Given the description of an element on the screen output the (x, y) to click on. 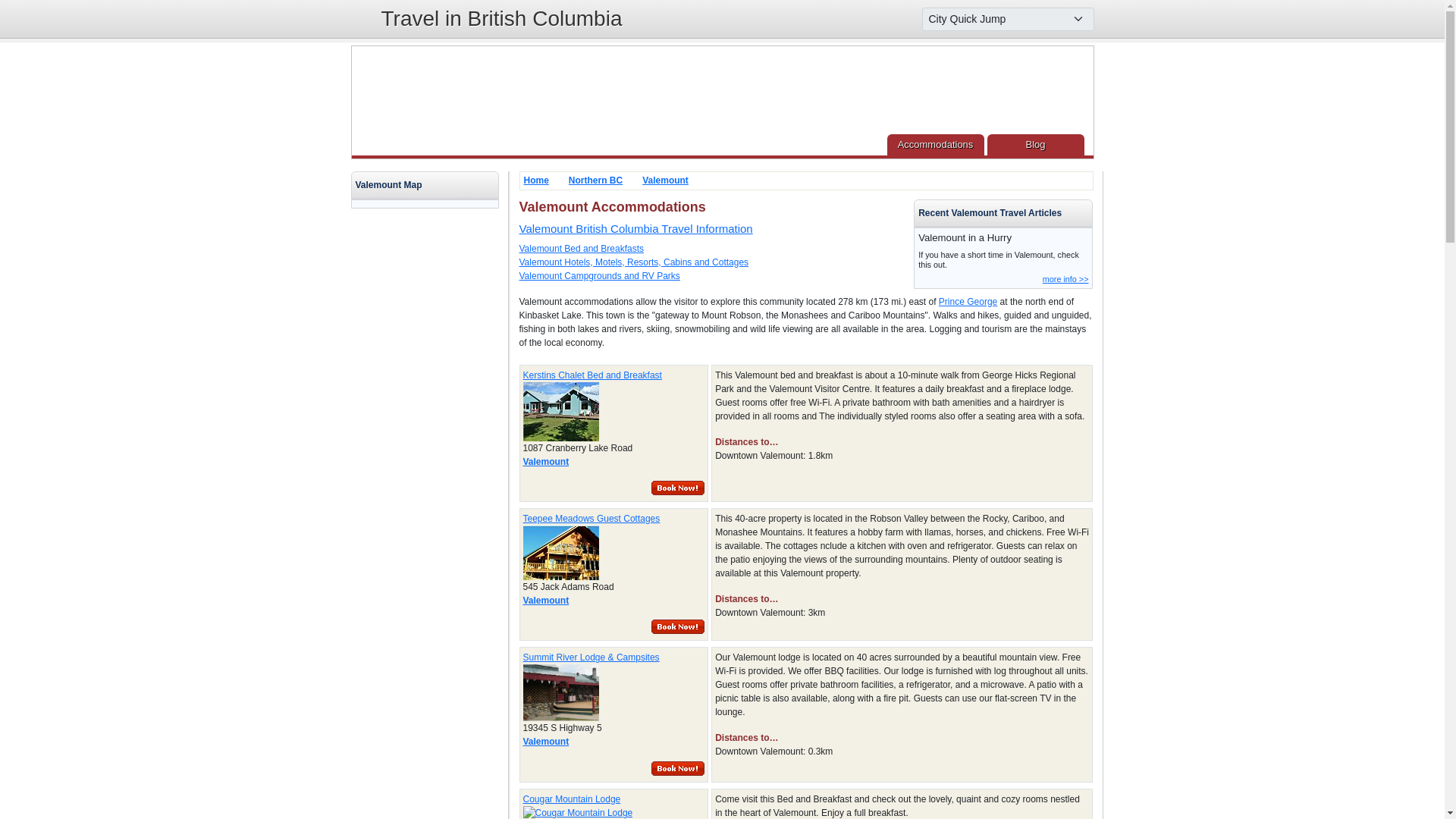
Northern BC (596, 180)
Valemount Hotels, Motels, Resorts, Cabins and Cottages (633, 262)
Kerstins Chalet Bed and Breakfast (613, 375)
Valemount Bed and Breakfasts (580, 248)
Travel in British Columbia (500, 18)
Valemount (545, 741)
Accommodations (935, 144)
Valemount British Columbia Travel Information (635, 228)
Valemount Campgrounds and RV Parks (598, 276)
Valemount (545, 600)
